Given the description of an element on the screen output the (x, y) to click on. 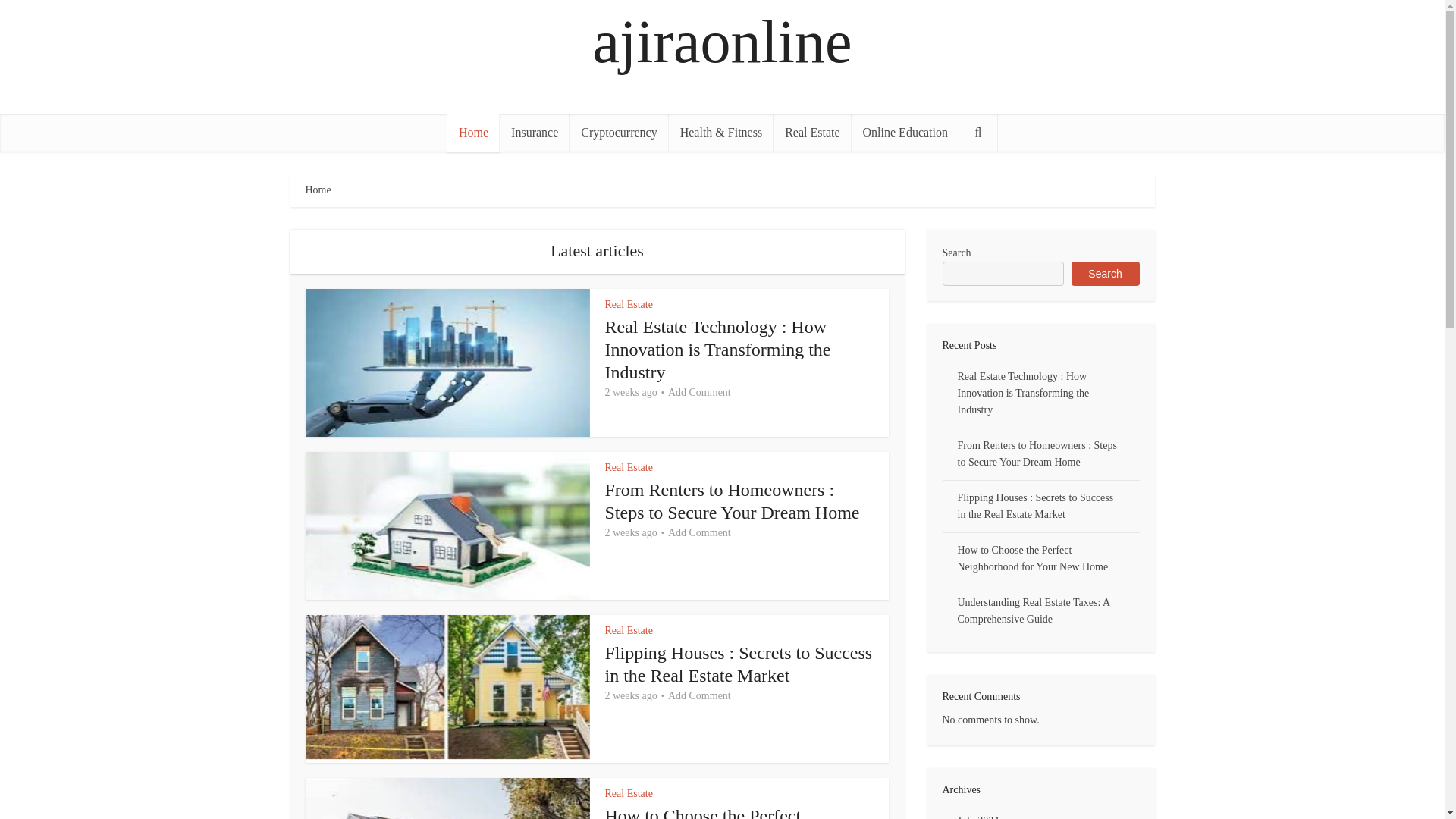
From Renters to Homeowners : Steps to Secure Your Dream Home (732, 500)
Real Estate (811, 132)
Add Comment (699, 532)
Real Estate (628, 304)
How to Choose the Perfect Neighborhood for Your New Home (734, 812)
Insurance (534, 132)
Real Estate (628, 467)
Add Comment (699, 392)
